Given the description of an element on the screen output the (x, y) to click on. 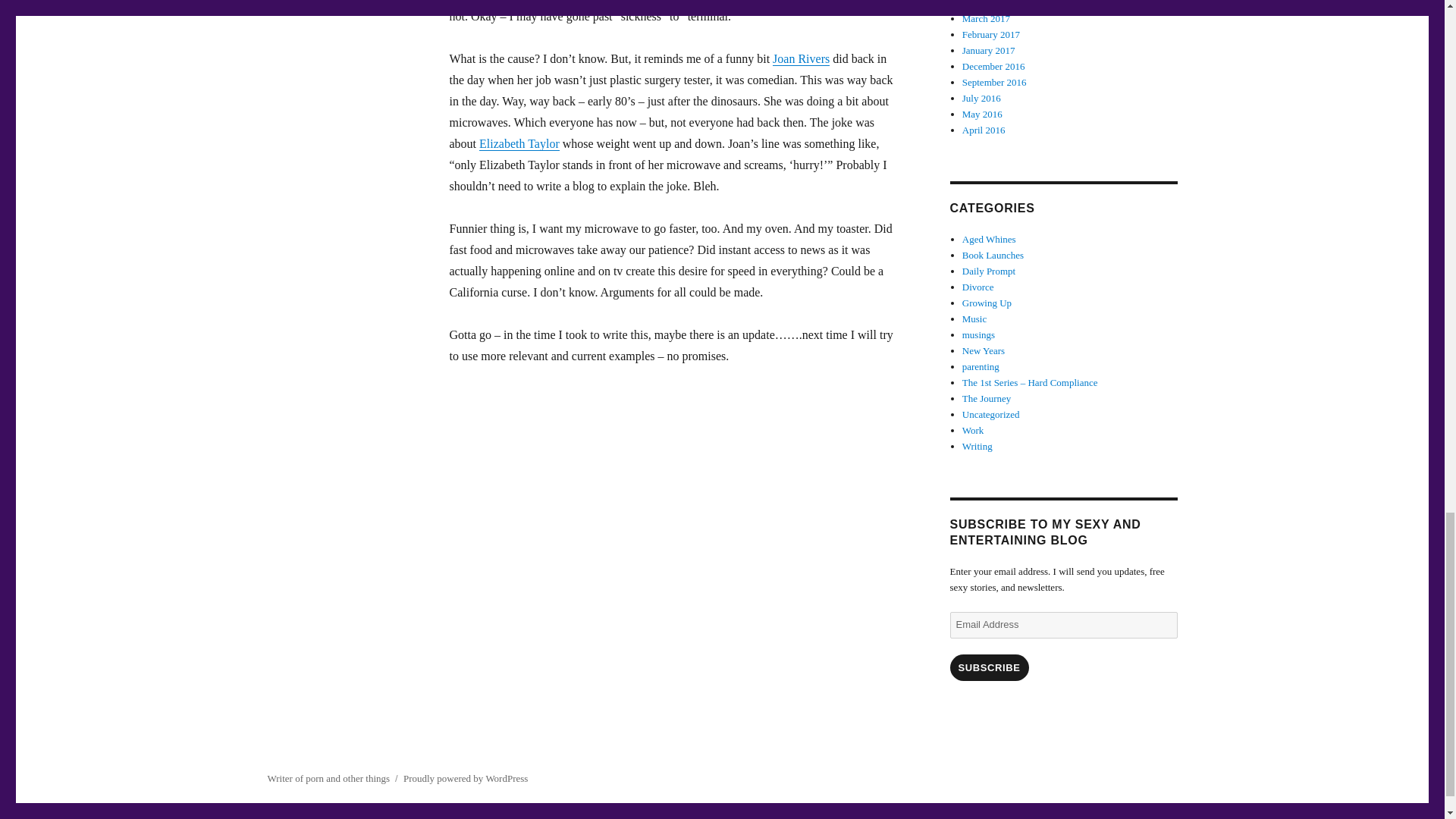
Joan Rivers (801, 58)
Elizabeth Taylor (519, 143)
